Given the description of an element on the screen output the (x, y) to click on. 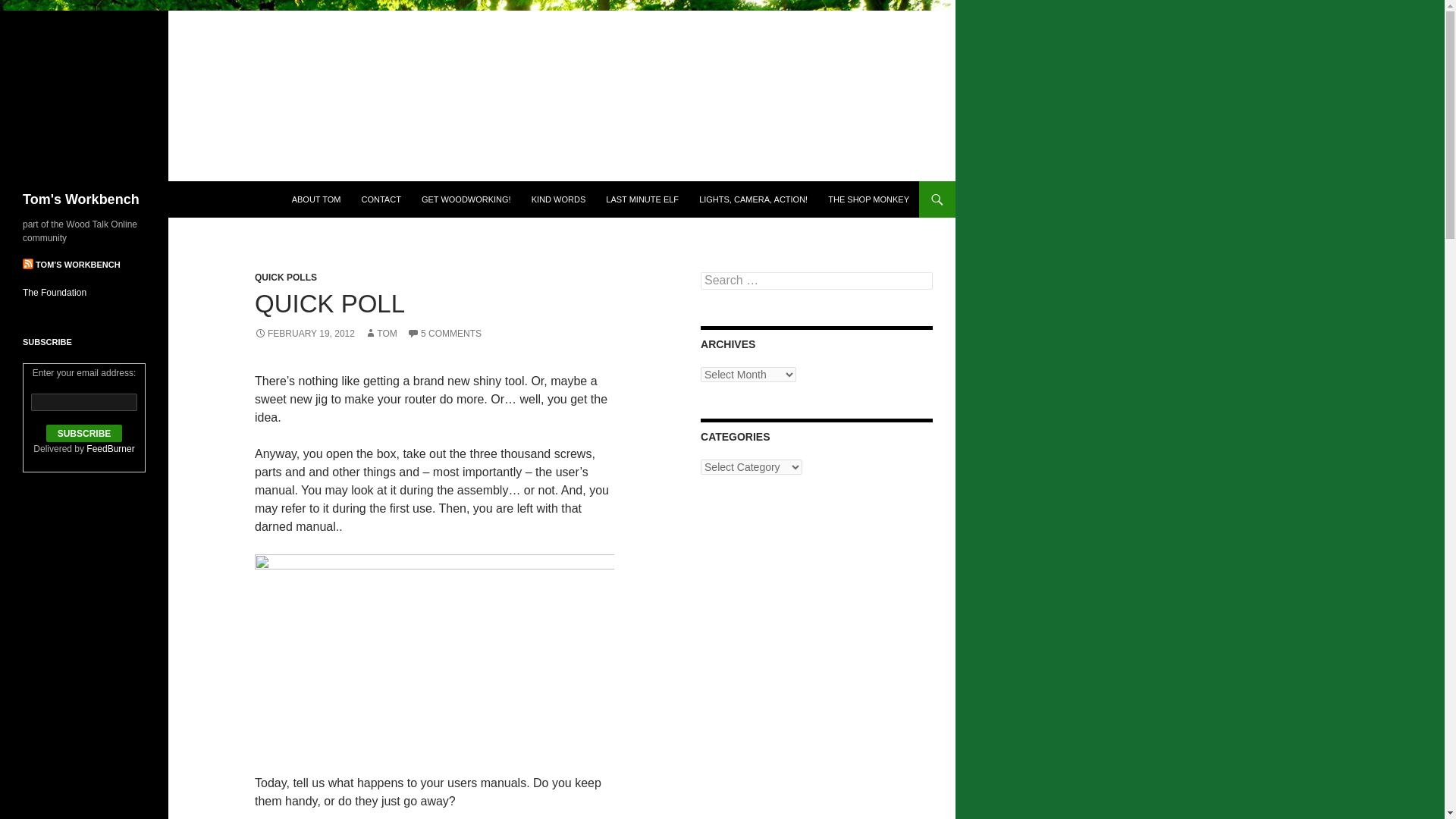
THE SHOP MONKEY (868, 198)
5 COMMENTS (444, 333)
Search (30, 8)
TOM (380, 333)
Users manuals (434, 654)
FeedBurner (109, 448)
FEBRUARY 19, 2012 (304, 333)
Subscribe (84, 433)
KIND WORDS (558, 198)
